Given the description of an element on the screen output the (x, y) to click on. 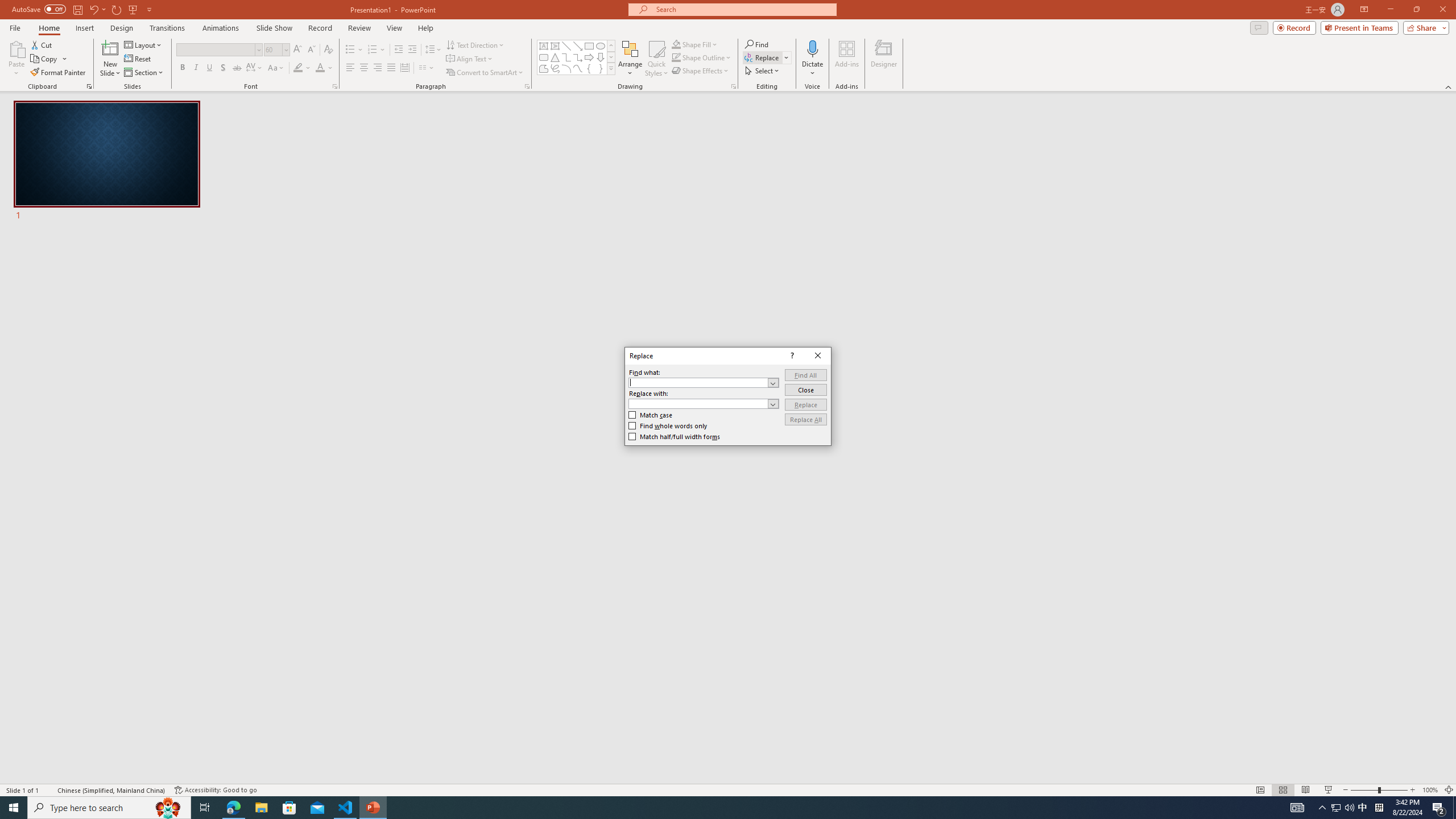
AutomationID: 4105 (1297, 807)
Search highlights icon opens search home window (167, 807)
Tray Input Indicator - Chinese (Simplified, China) (1378, 807)
Arrange (630, 58)
Visual Studio Code - 1 running window (345, 807)
Vertical Text Box (554, 45)
